Given the description of an element on the screen output the (x, y) to click on. 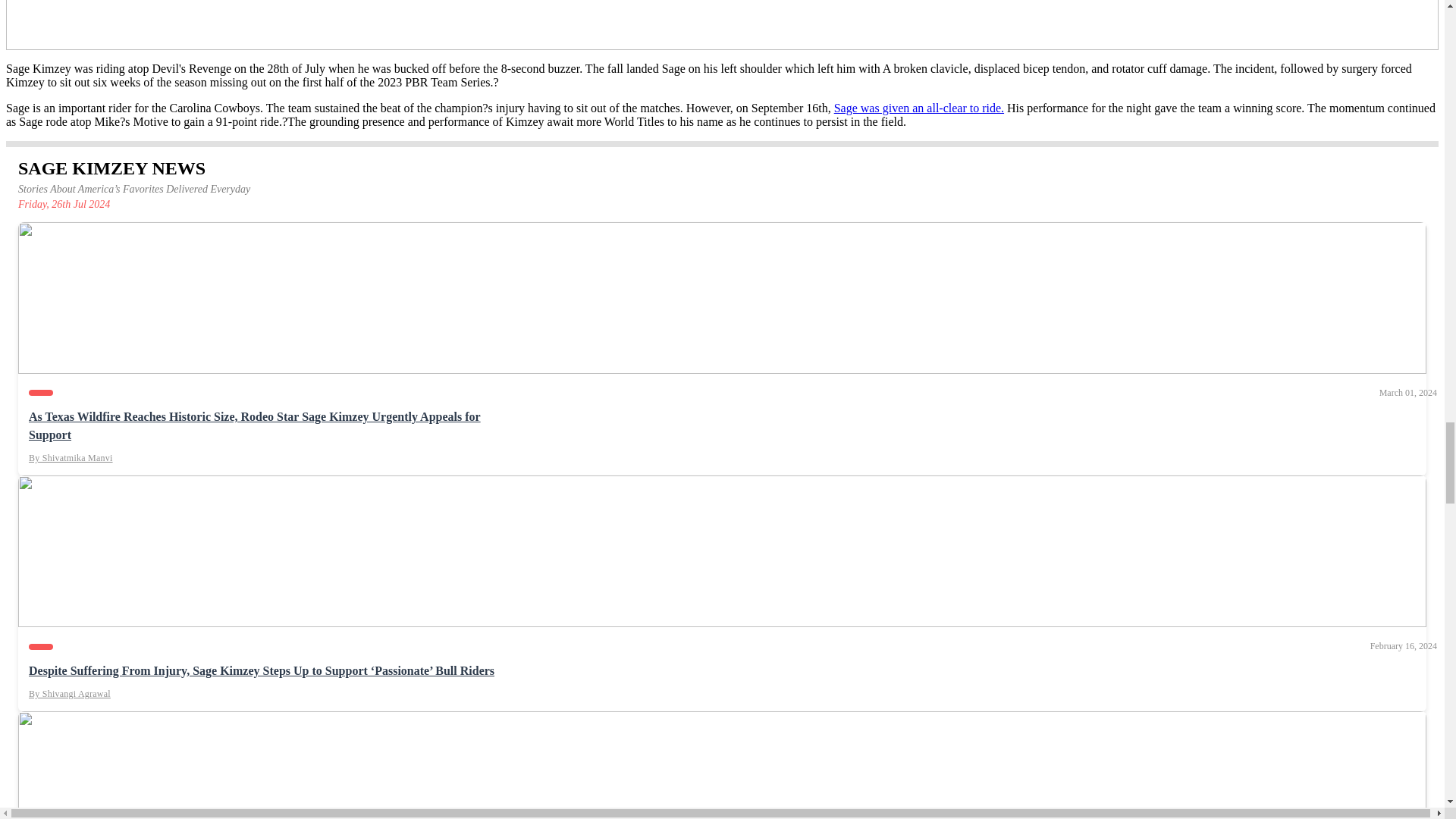
By Shivatmika Manvi (71, 458)
By Shivangi Agrawal (69, 694)
Sage was given an all-clear to ride. (919, 107)
